Given the description of an element on the screen output the (x, y) to click on. 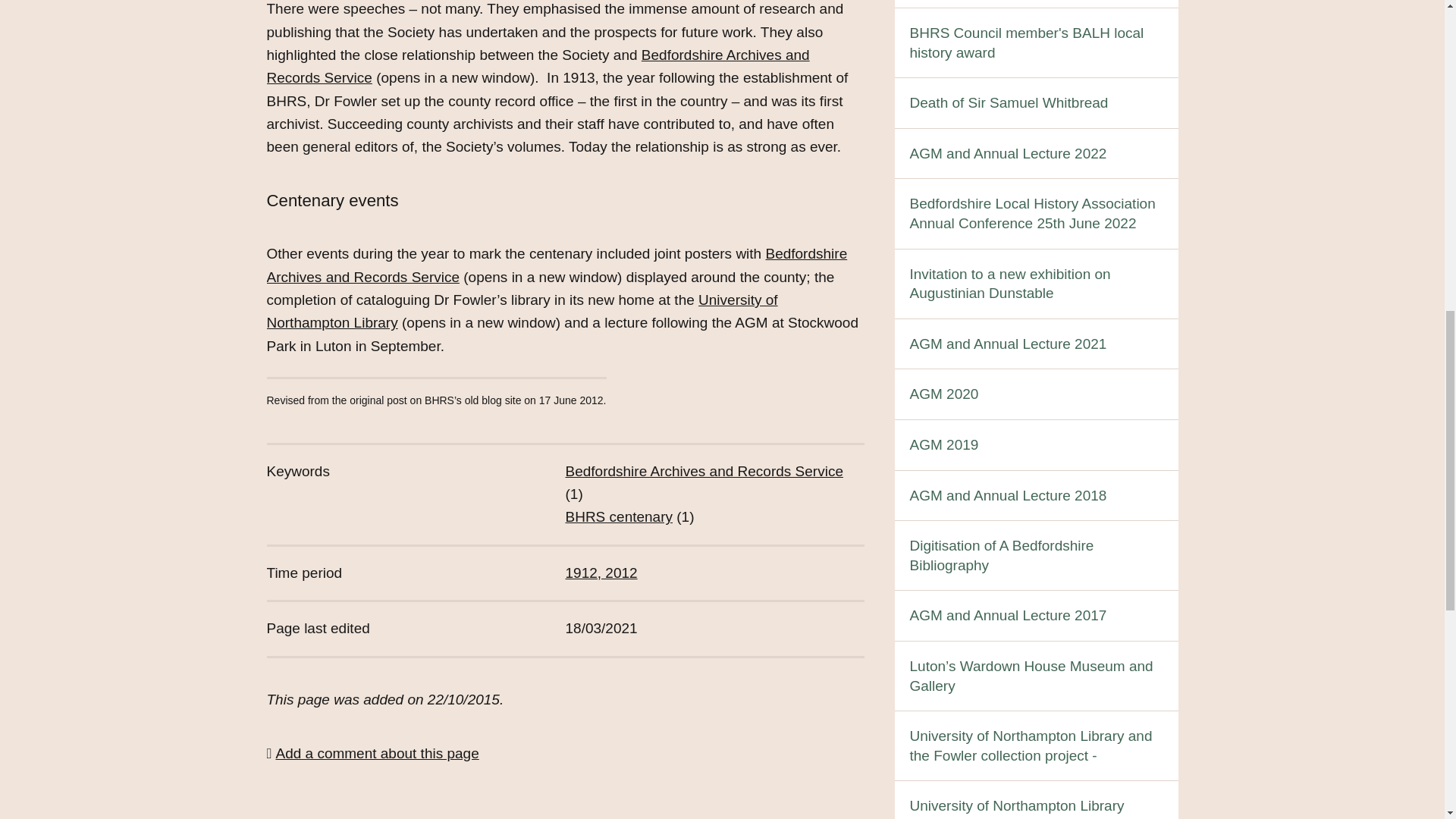
1912, 2012 (601, 572)
University of Northampton Library (521, 310)
BHRS centenary (619, 516)
Bedfordshire Archives and Records Service (537, 65)
Bedfordshire Archives and Records Service (704, 471)
Add a comment about this page (372, 753)
Bedfordshire Archives and Records Service (556, 264)
